Given the description of an element on the screen output the (x, y) to click on. 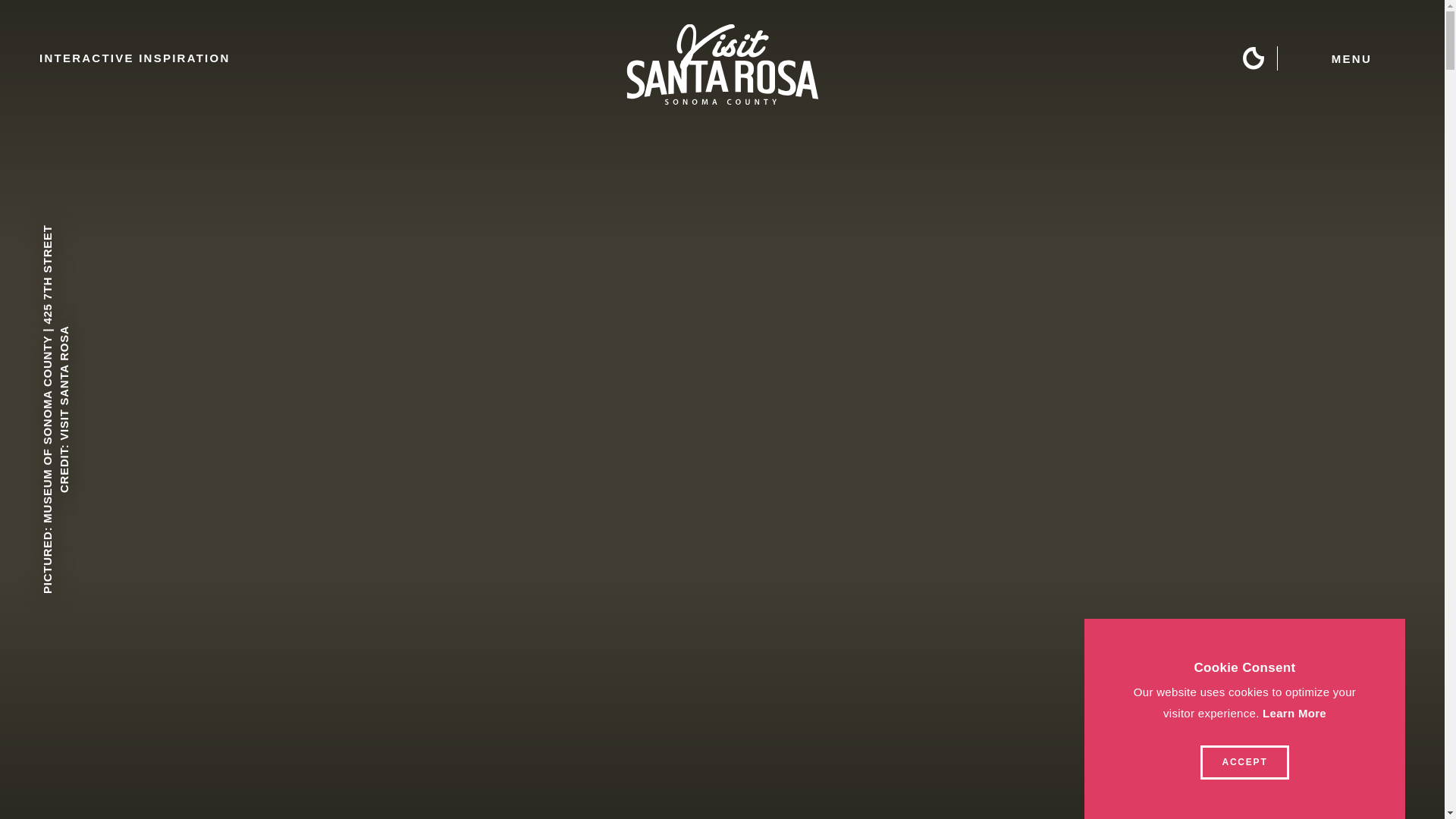
Skip to content (57, 15)
Learn More (1294, 712)
ACCEPT (1243, 762)
MENU (1402, 57)
